Given the description of an element on the screen output the (x, y) to click on. 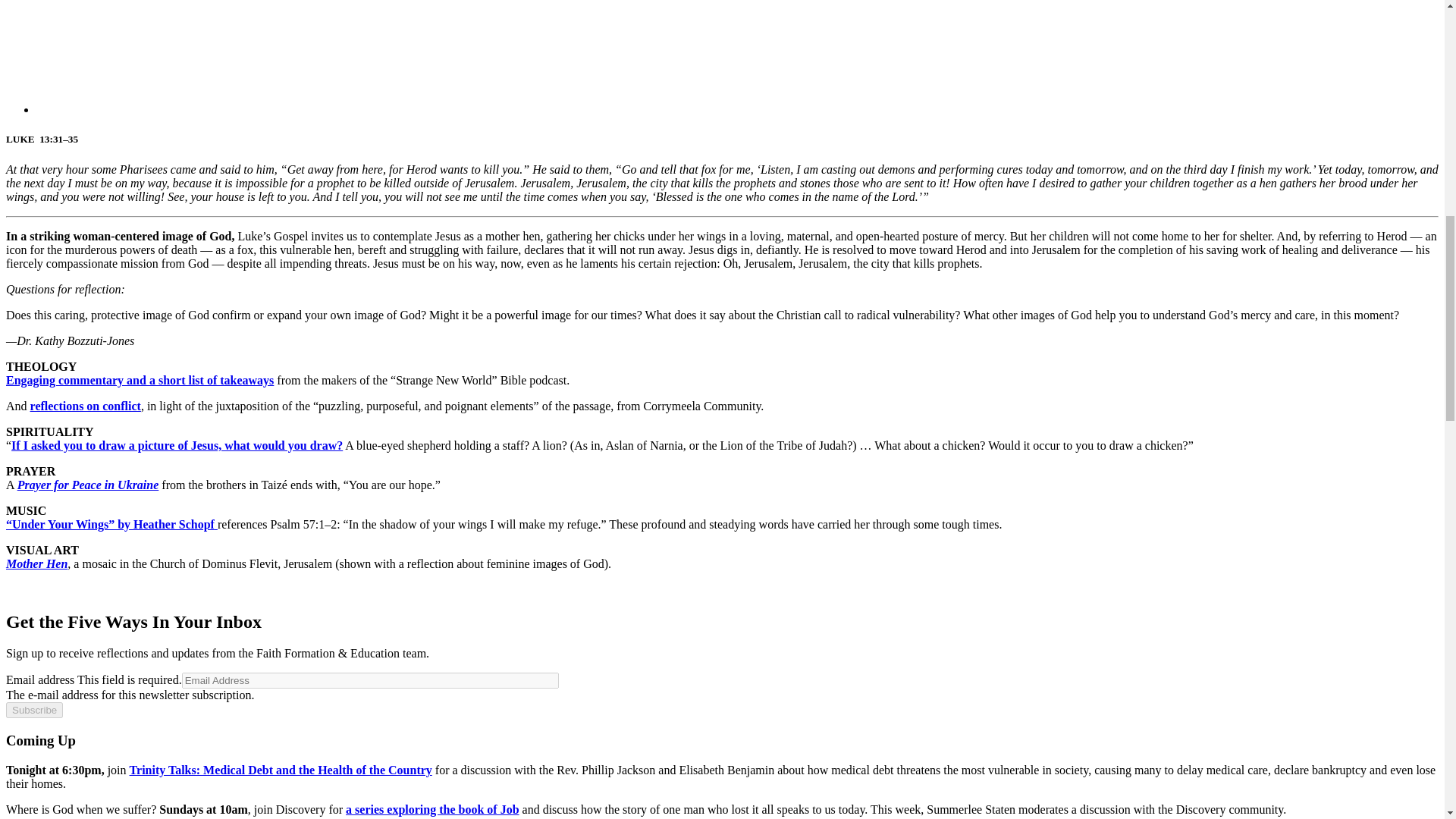
Subscribe (33, 709)
Engaging commentary and a short list of takeaways (139, 379)
Trinity Talks: Medical Debt and the Health of the Country (280, 769)
Mother Hen (35, 563)
Subscribe (33, 709)
a series exploring the book of Job (432, 809)
reflections on conflict (85, 405)
Prayer for Peace in Ukraine (87, 484)
